Given the description of an element on the screen output the (x, y) to click on. 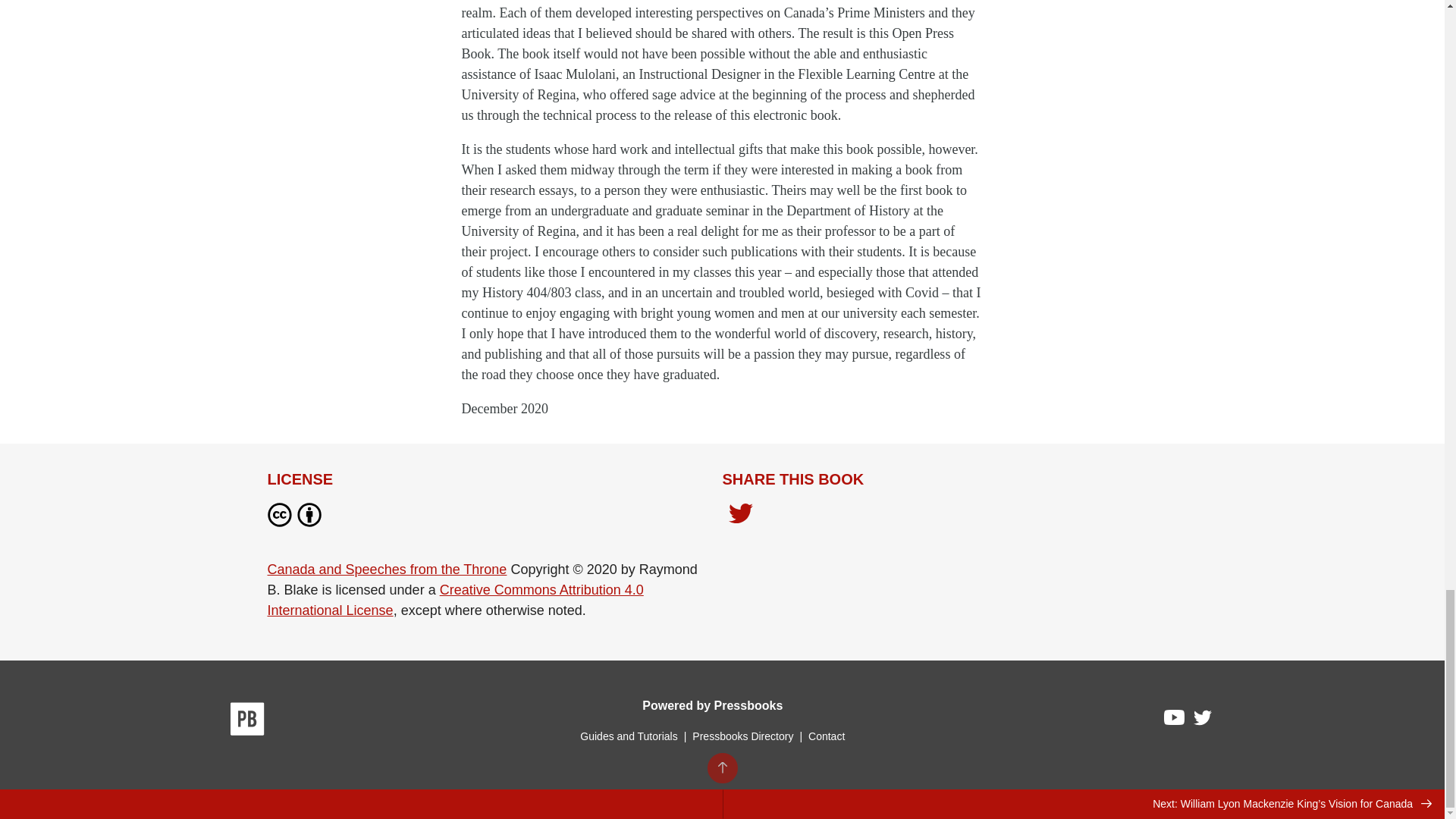
Powered by Pressbooks (712, 705)
Contact (826, 736)
Pressbooks Directory (742, 736)
Share on Twitter (740, 514)
Pressbooks on YouTube (1174, 721)
Creative Commons Attribution 4.0 International License (454, 600)
Canada and Speeches from the Throne (386, 569)
Guides and Tutorials (627, 736)
Share on Twitter (740, 517)
